Given the description of an element on the screen output the (x, y) to click on. 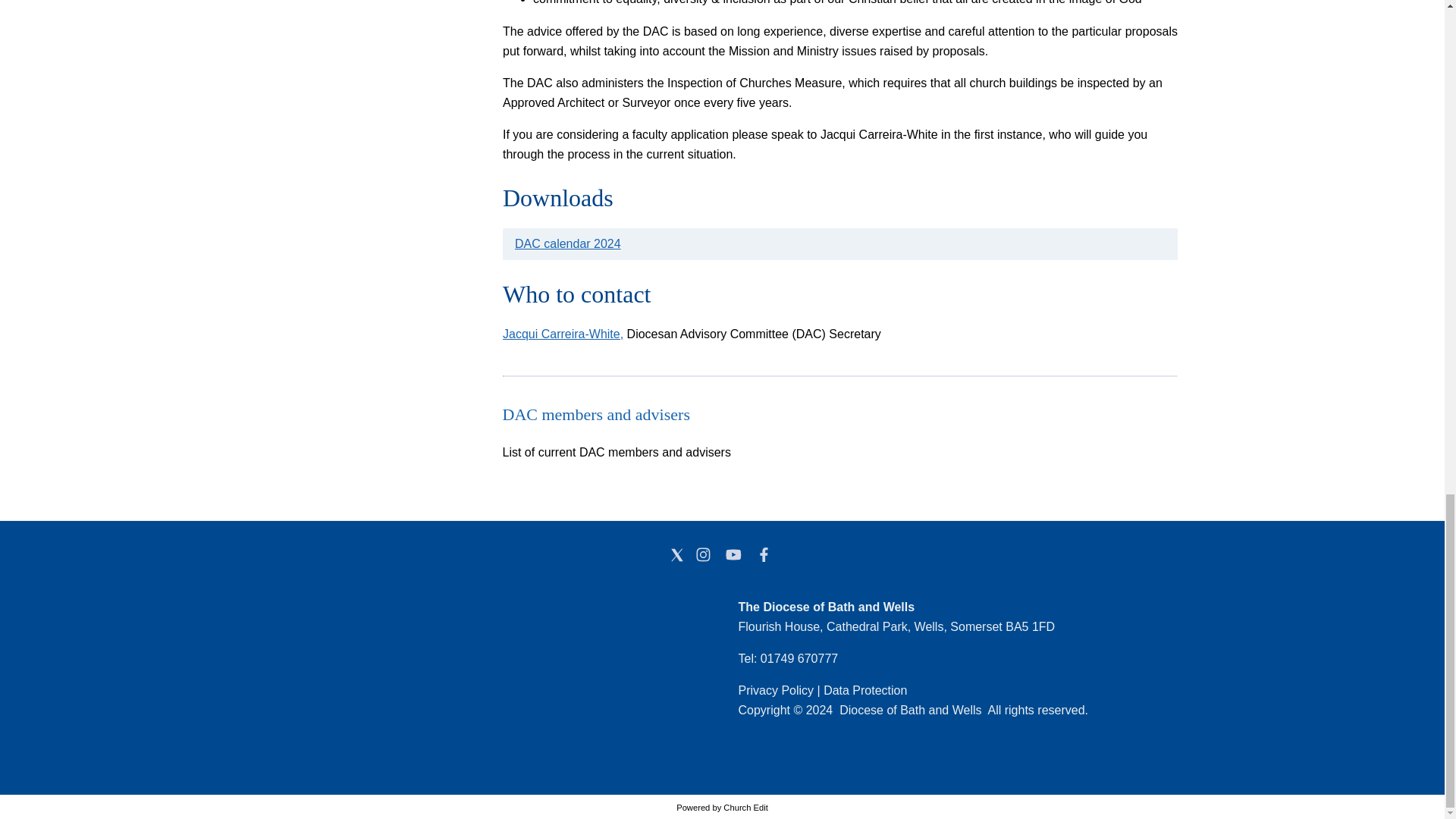
Logo (386, 674)
